Given the description of an element on the screen output the (x, y) to click on. 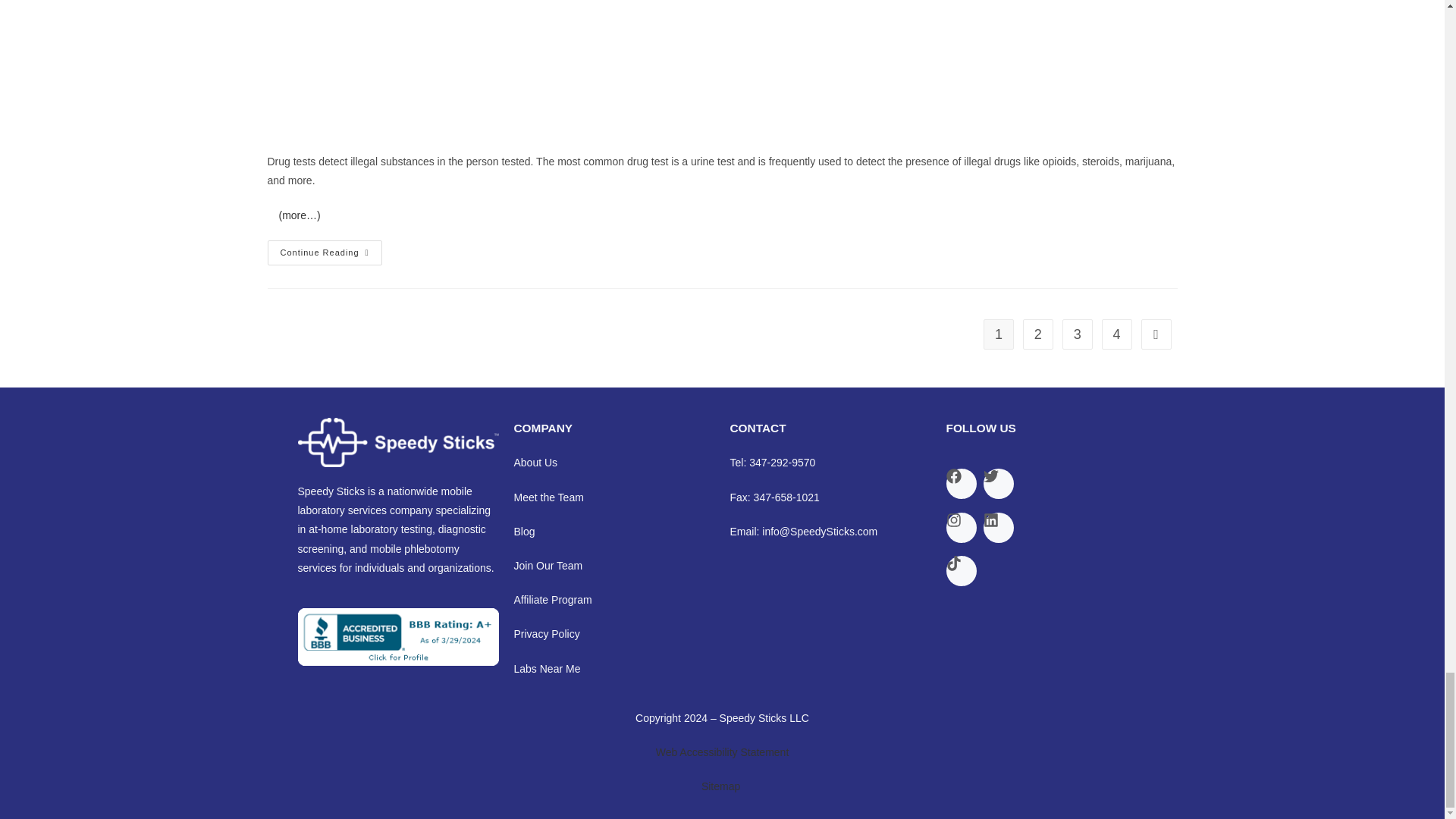
Join Our Team (548, 565)
Privacy Policy (546, 633)
About Speedy Sticks (535, 462)
Meet the Team (548, 497)
Blog (524, 531)
Web Accessibility Statement (722, 752)
